Given the description of an element on the screen output the (x, y) to click on. 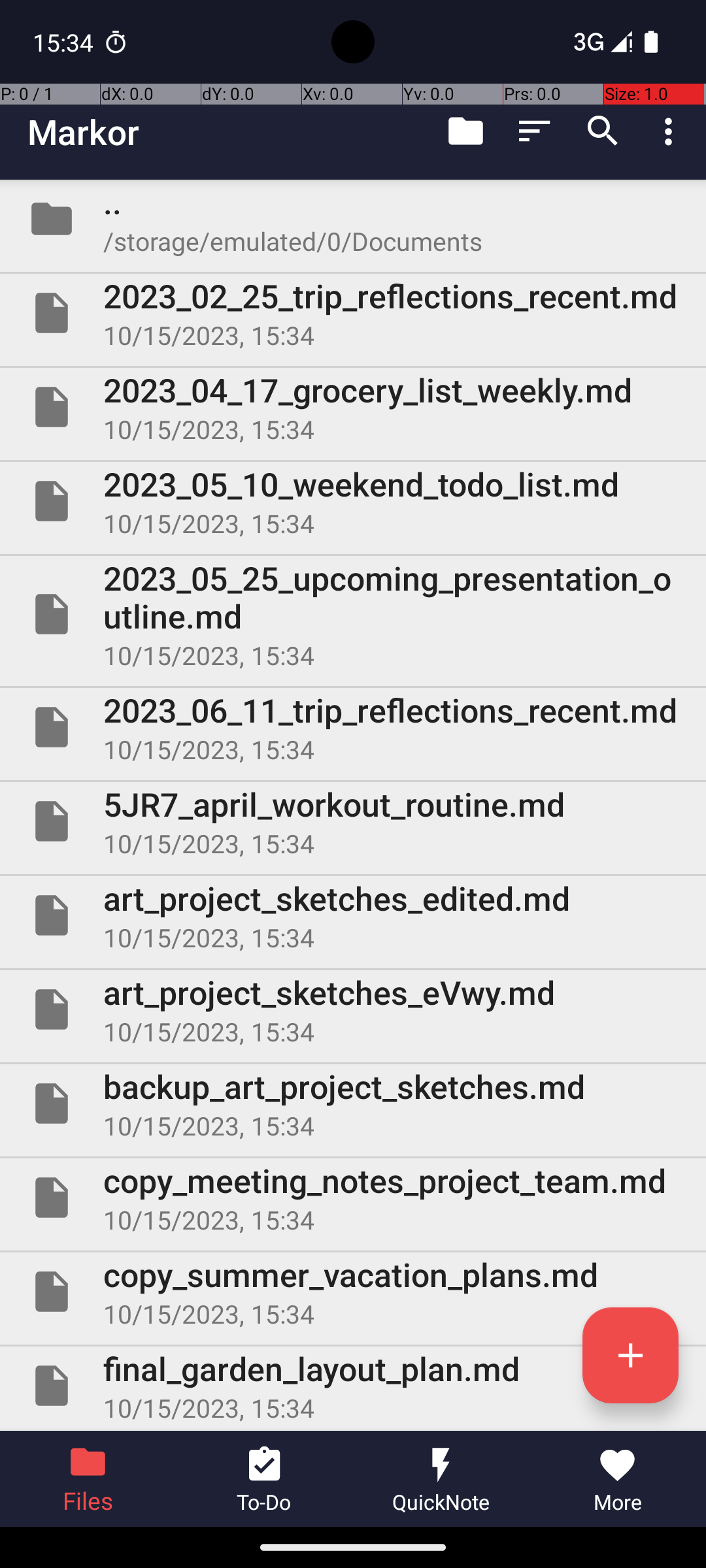
File 2023_02_25_trip_reflections_recent.md  Element type: android.widget.LinearLayout (353, 312)
File 2023_04_17_grocery_list_weekly.md  Element type: android.widget.LinearLayout (353, 406)
File 2023_05_10_weekend_todo_list.md  Element type: android.widget.LinearLayout (353, 500)
File 2023_05_25_upcoming_presentation_outline.md  Element type: android.widget.LinearLayout (353, 613)
File 2023_06_11_trip_reflections_recent.md  Element type: android.widget.LinearLayout (353, 726)
File 5JR7_april_workout_routine.md  Element type: android.widget.LinearLayout (353, 821)
File art_project_sketches_edited.md  Element type: android.widget.LinearLayout (353, 915)
File art_project_sketches_eVwy.md  Element type: android.widget.LinearLayout (353, 1009)
File backup_art_project_sketches.md  Element type: android.widget.LinearLayout (353, 1103)
File copy_meeting_notes_project_team.md  Element type: android.widget.LinearLayout (353, 1197)
File copy_summer_vacation_plans.md  Element type: android.widget.LinearLayout (353, 1291)
File final_garden_layout_plan.md  Element type: android.widget.LinearLayout (353, 1385)
